Given the description of an element on the screen output the (x, y) to click on. 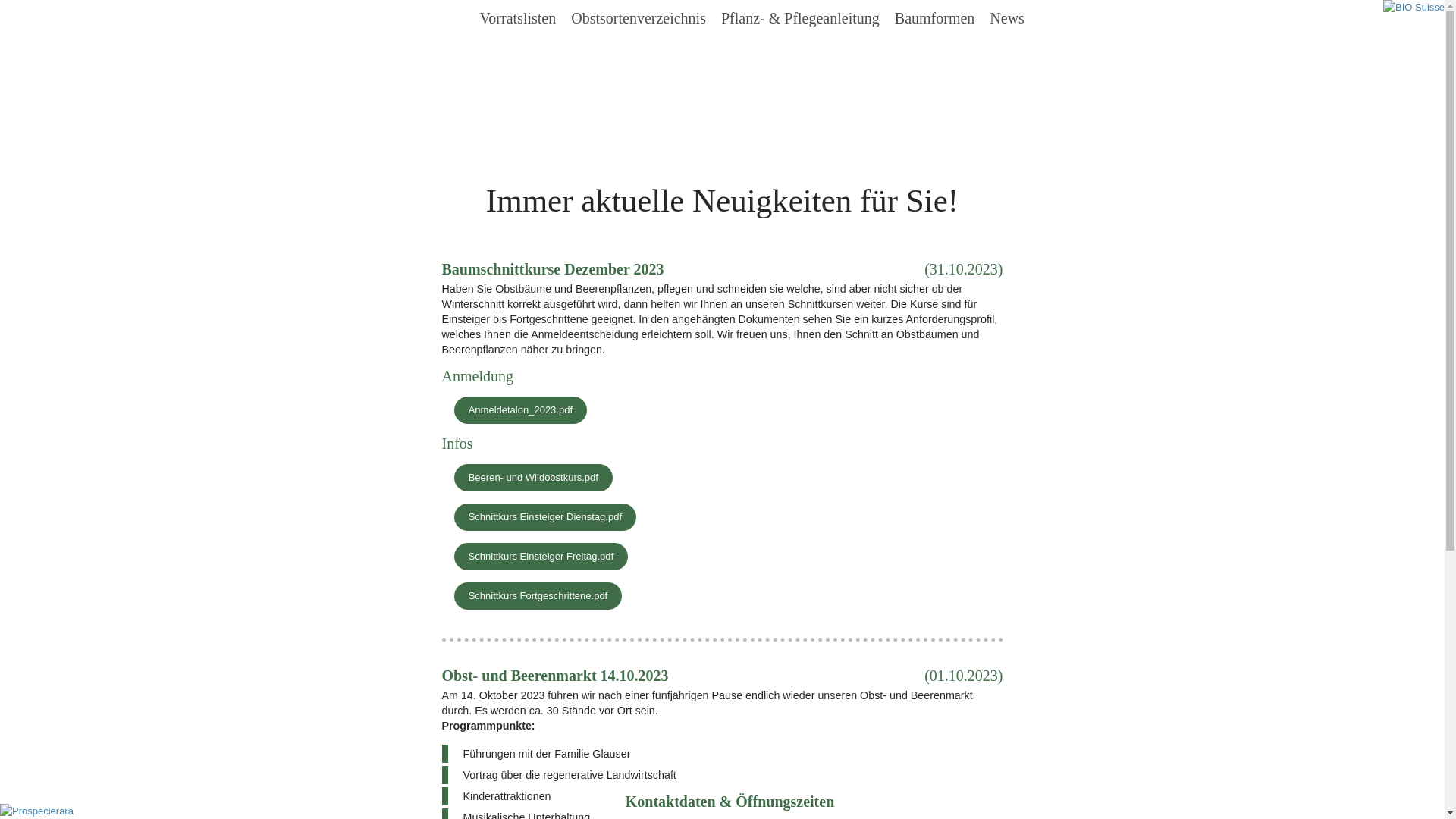
BIO Suisse Element type: hover (1413, 7)
Baumformen Element type: text (934, 17)
Schnittkurs Fortgeschrittene.pdf Element type: text (537, 595)
News Element type: text (1007, 17)
Pflanz- & Pflegeanleitung Element type: text (800, 17)
Kontakt Element type: text (715, 64)
Vorratslisten Element type: text (517, 17)
Anfahrt Element type: text (765, 64)
Team Element type: text (617, 64)
Schnittkurs Einsteiger Freitag.pdf Element type: text (540, 556)
Chronik Element type: text (664, 64)
Impressum Element type: text (824, 64)
Schnittkurs Einsteiger Dienstag.pdf Element type: text (544, 516)
Beeren- und Wildobstkurs.pdf Element type: text (532, 477)
Anmeldetalon_2023.pdf Element type: text (519, 409)
Obstsortenverzeichnis Element type: text (638, 17)
